Given the description of an element on the screen output the (x, y) to click on. 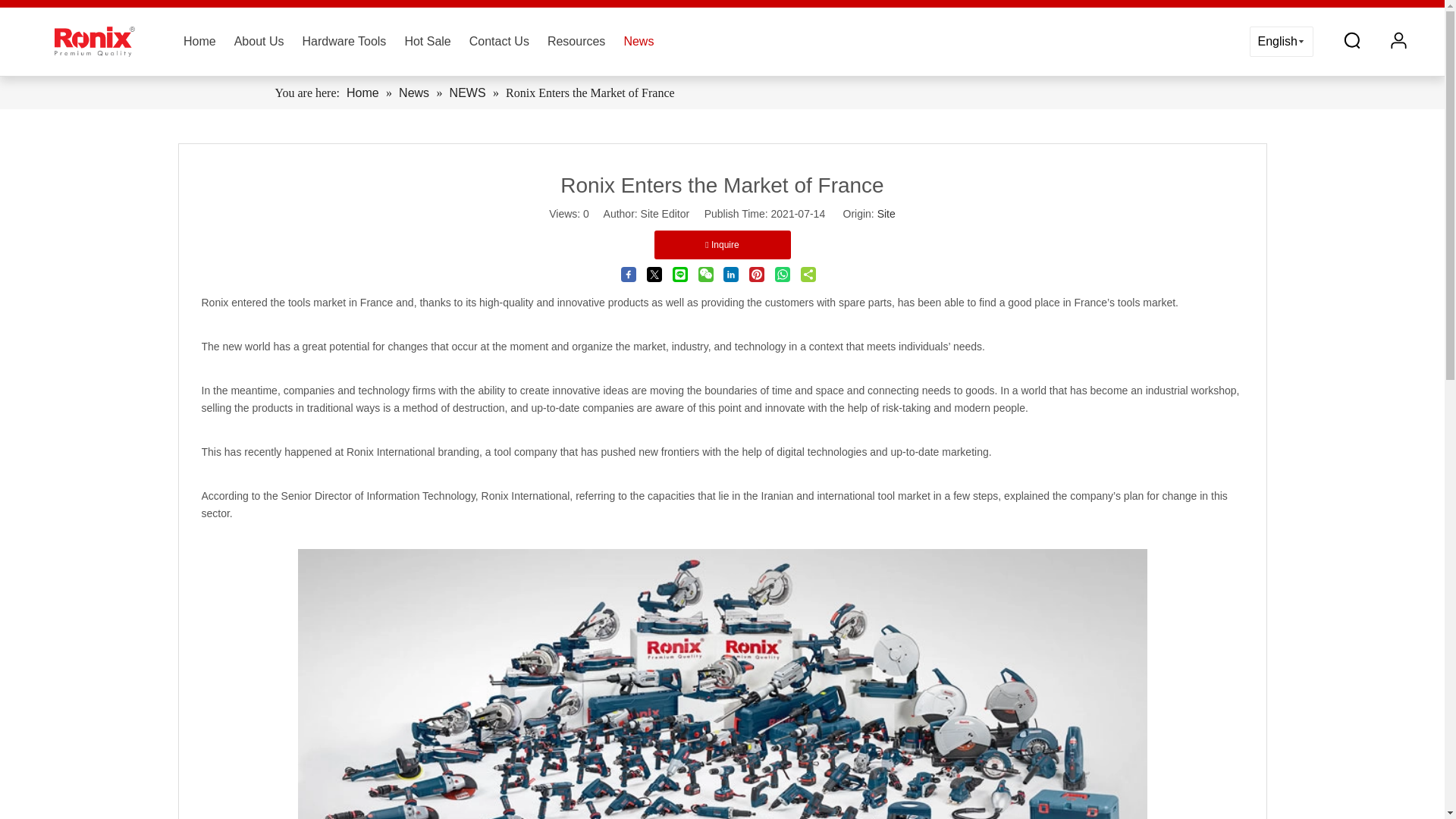
News (638, 41)
Hardware Tools (343, 41)
Contact Us (498, 41)
Hot Sale (426, 41)
About Us (258, 41)
Resources (576, 41)
Home (199, 41)
